Given the description of an element on the screen output the (x, y) to click on. 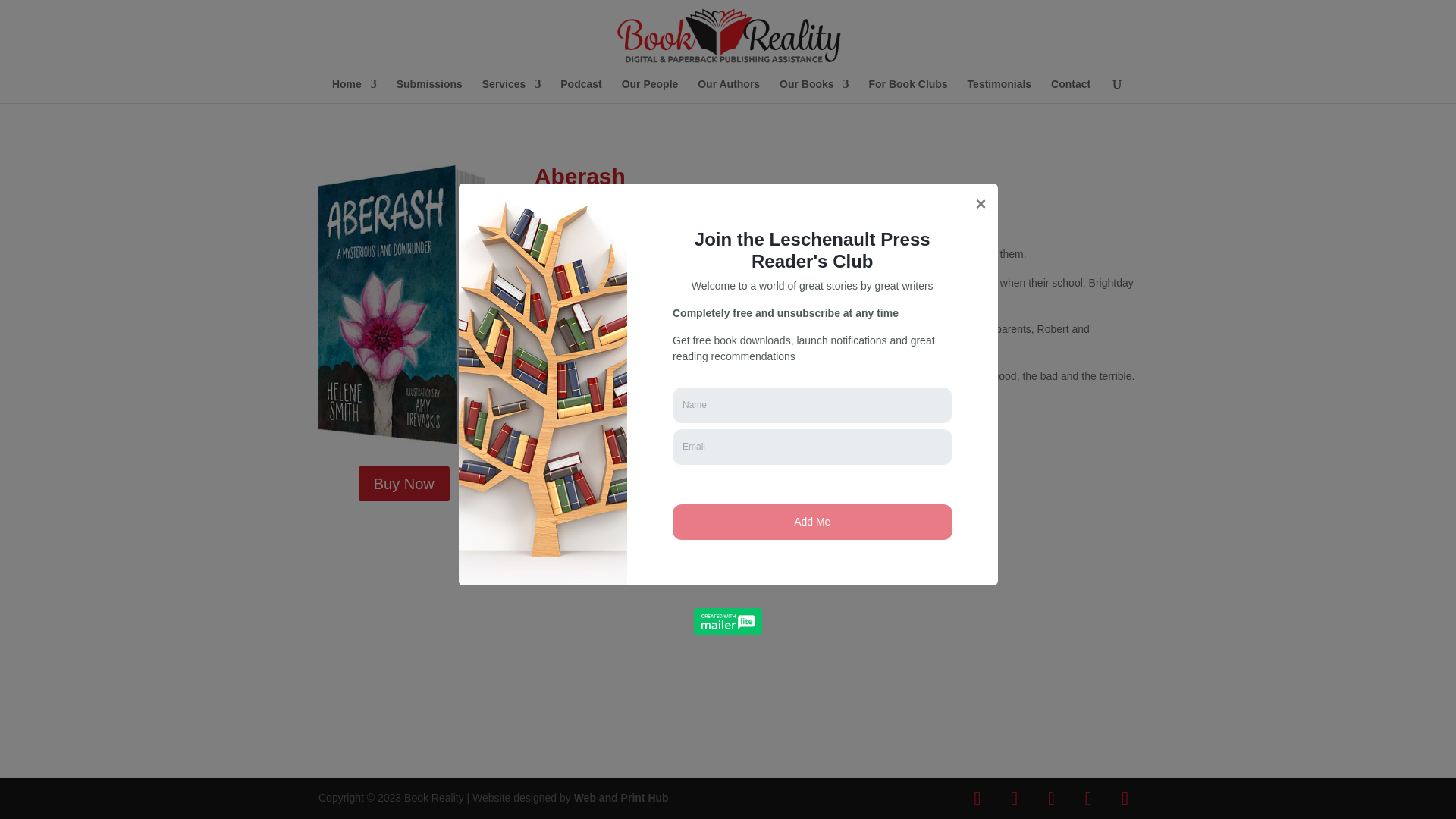
Our People (649, 90)
Contact (1070, 90)
Services (511, 90)
For Book Clubs (907, 90)
Home (354, 90)
Testimonials (1000, 90)
Submissions (429, 90)
Our Books (813, 90)
Podcast (580, 90)
Our Authors (728, 90)
